Given the description of an element on the screen output the (x, y) to click on. 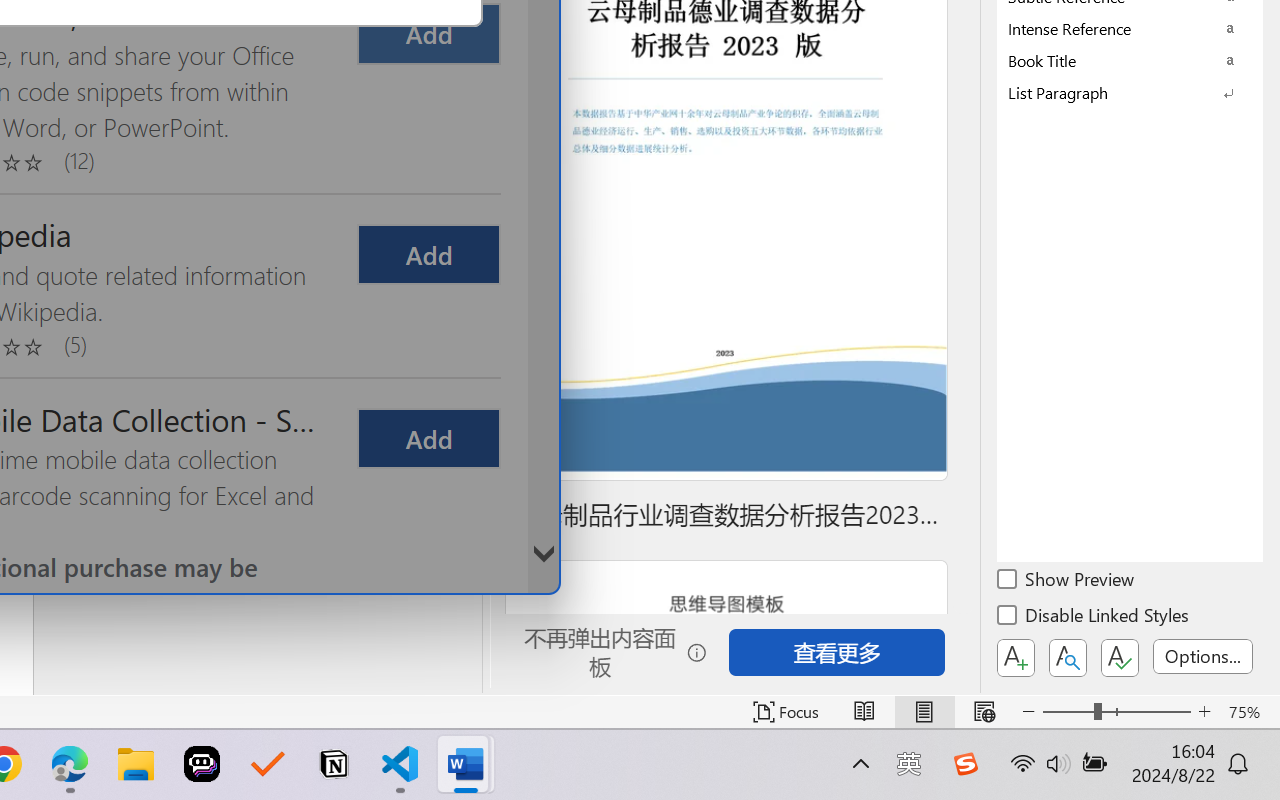
Read Mode (864, 712)
Poe (201, 764)
Zoom (1116, 712)
